Given the description of an element on the screen output the (x, y) to click on. 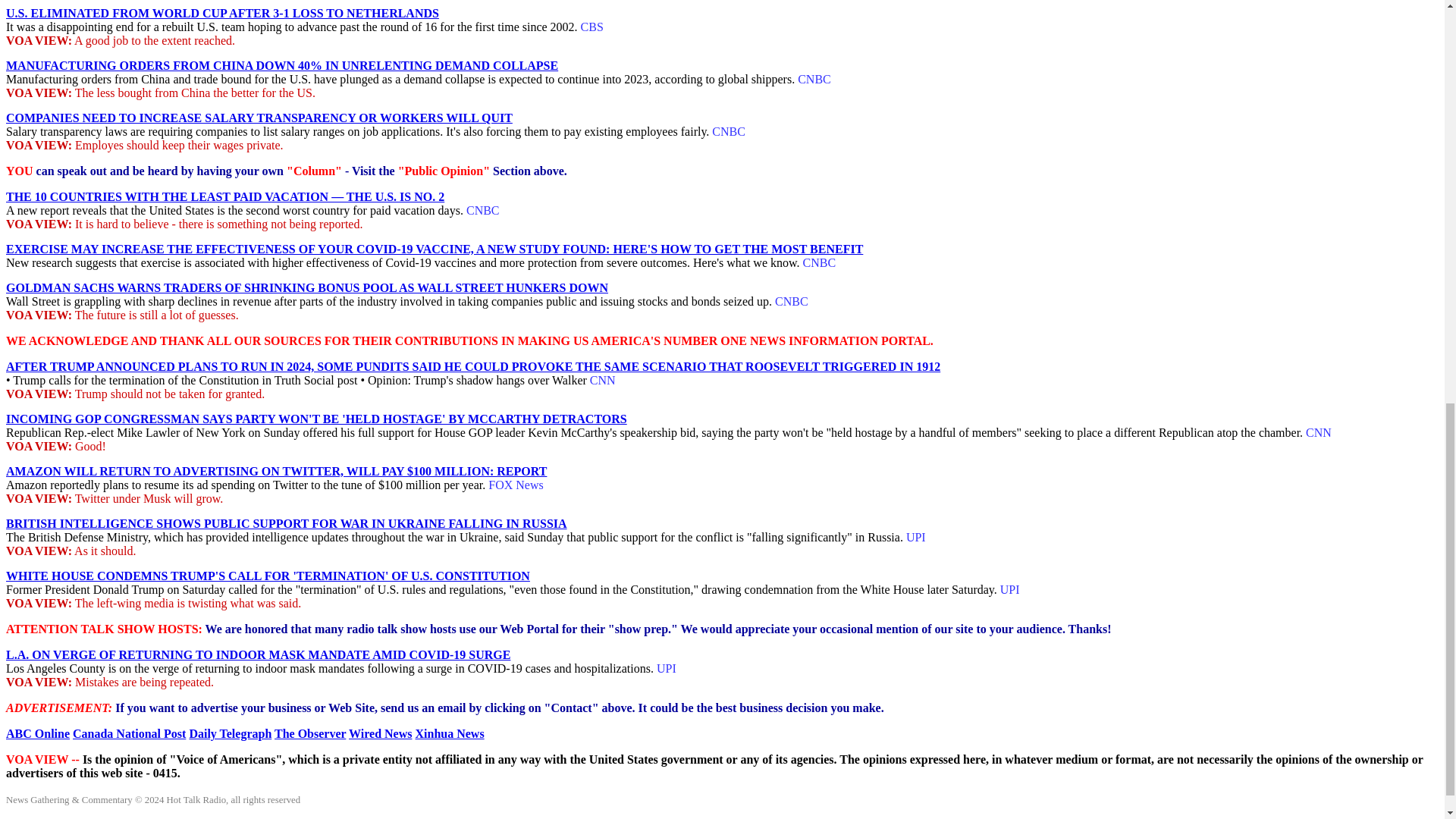
U.S. ELIMINATED FROM WORLD CUP AFTER 3-1 LOSS TO NETHERLANDS (222, 12)
